Given the description of an element on the screen output the (x, y) to click on. 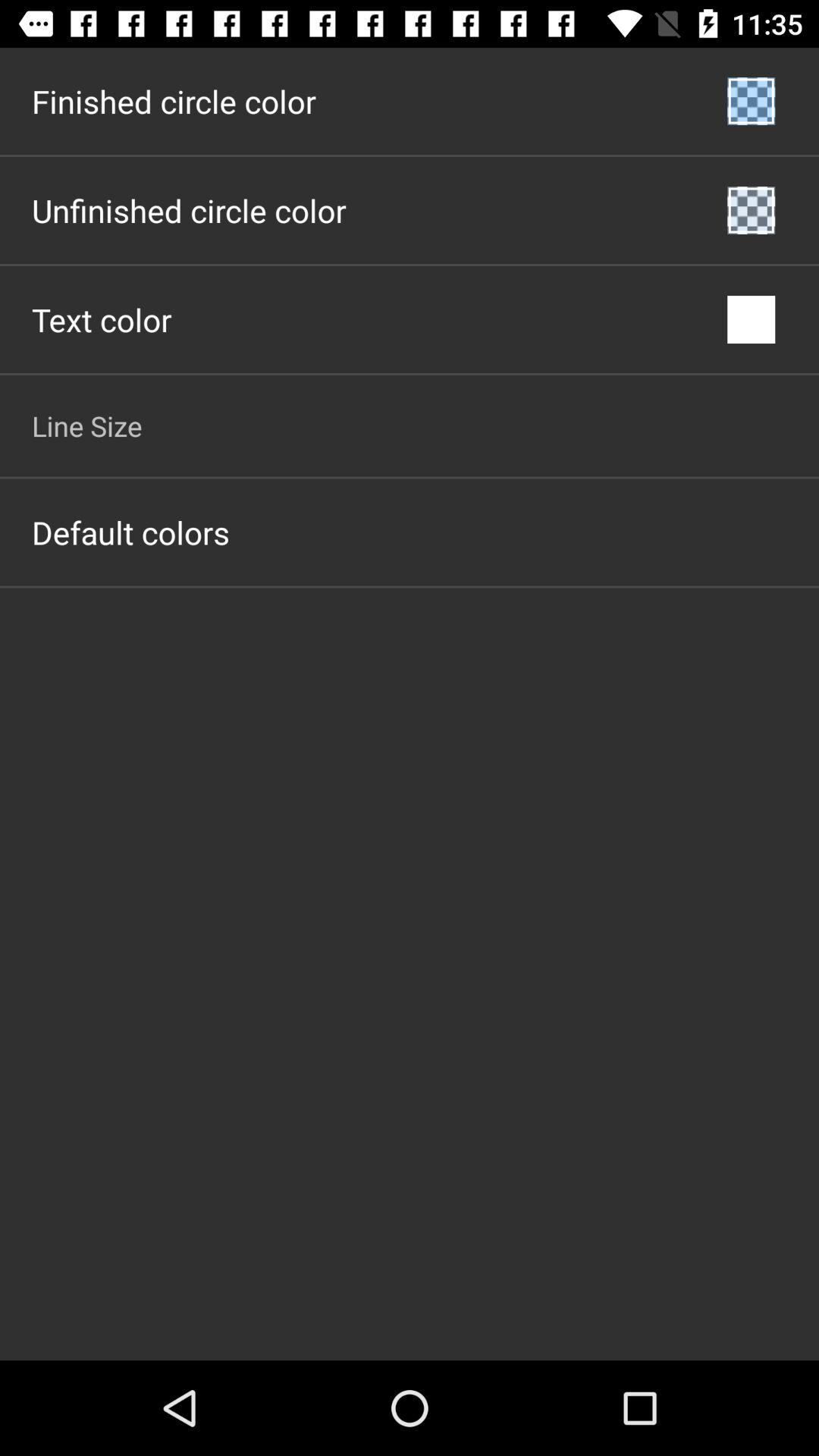
click app below text color icon (86, 425)
